Given the description of an element on the screen output the (x, y) to click on. 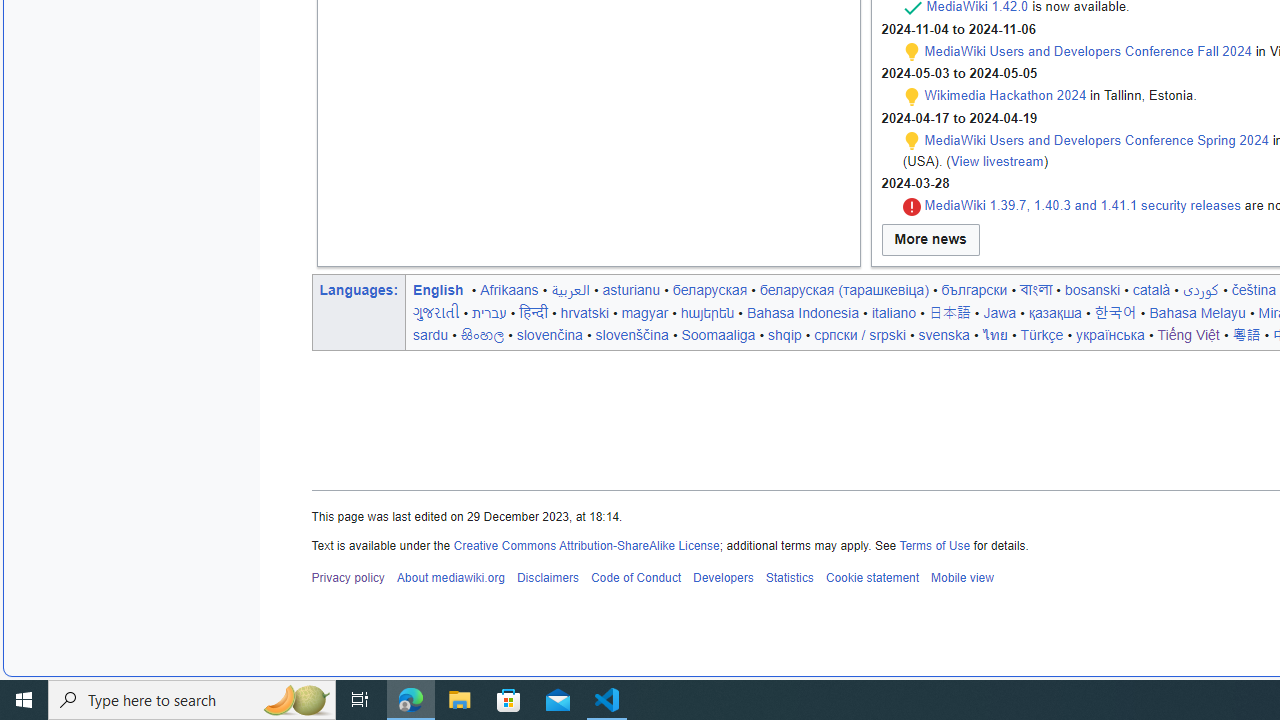
Jawa (1000, 312)
Cookie statement (872, 578)
Code of Conduct (635, 578)
hrvatski (584, 312)
Mobile view (962, 578)
About mediawiki.org (450, 578)
Maintenance update (911, 141)
